Given the description of an element on the screen output the (x, y) to click on. 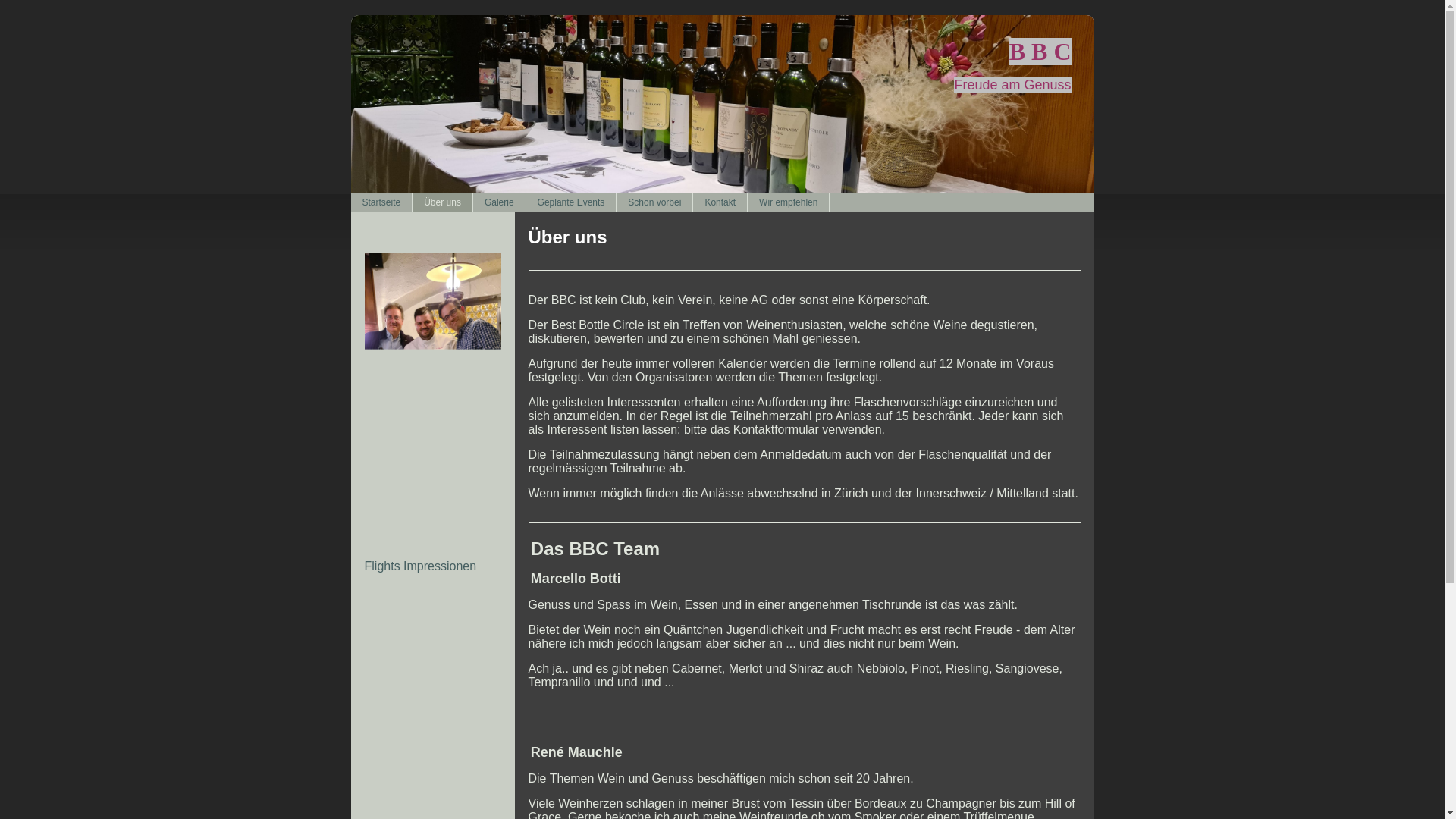
Wir empfehlen Element type: text (788, 202)
Galerie Element type: text (499, 202)
Kontakt Element type: text (720, 202)
Geplante Events Element type: text (571, 202)
Schon vorbei Element type: text (654, 202)
Startseite Element type: text (381, 202)
